Given the description of an element on the screen output the (x, y) to click on. 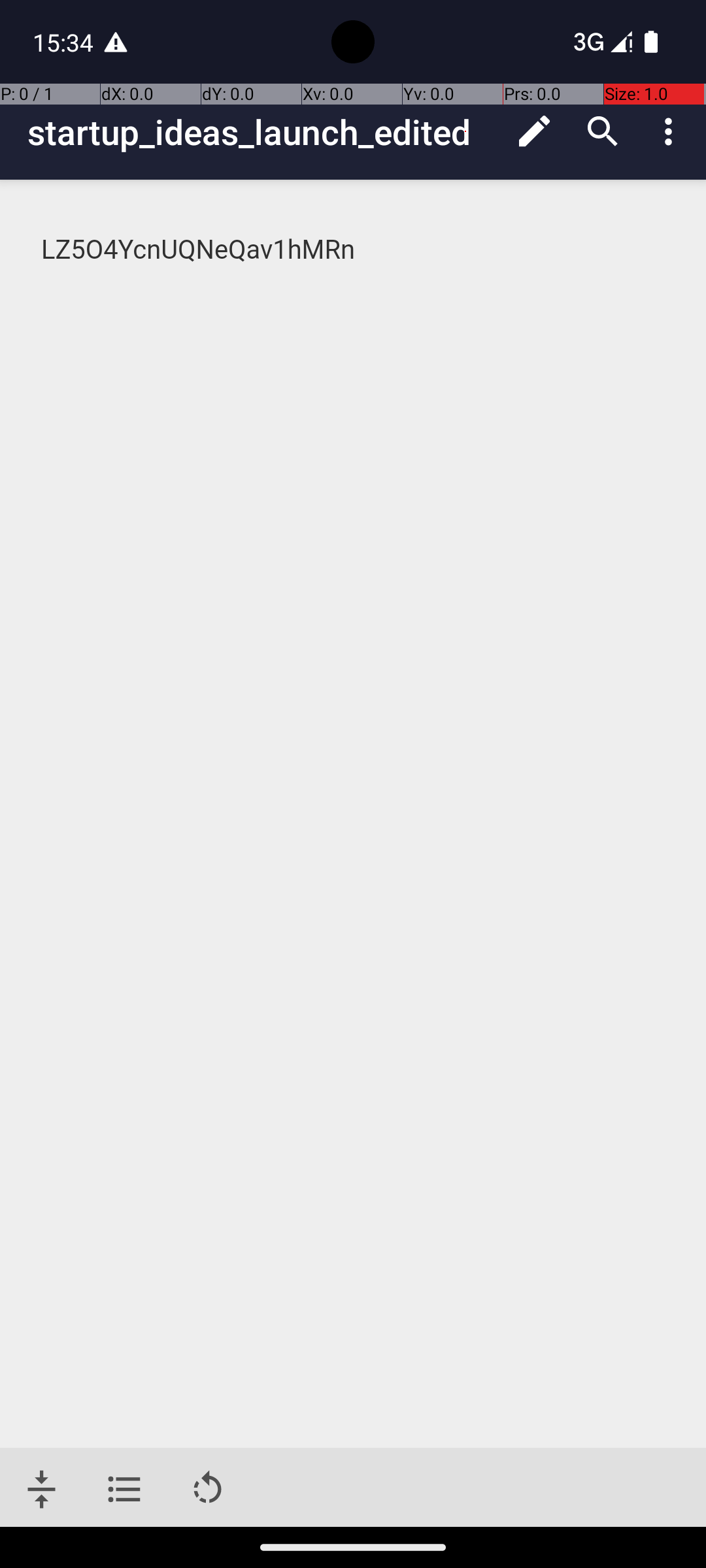
startup_ideas_launch_edited Element type: android.widget.TextView (263, 131)
Edit mode Element type: android.widget.TextView (534, 131)
Jump to bottom Element type: android.widget.ImageView (41, 1488)
Table of contents Element type: android.widget.ImageView (124, 1488)
Rotate Element type: android.widget.ImageView (207, 1488)
LZ5O4YcnUQNeQav1hMRn Element type: android.widget.TextView (354, 249)
